Given the description of an element on the screen output the (x, y) to click on. 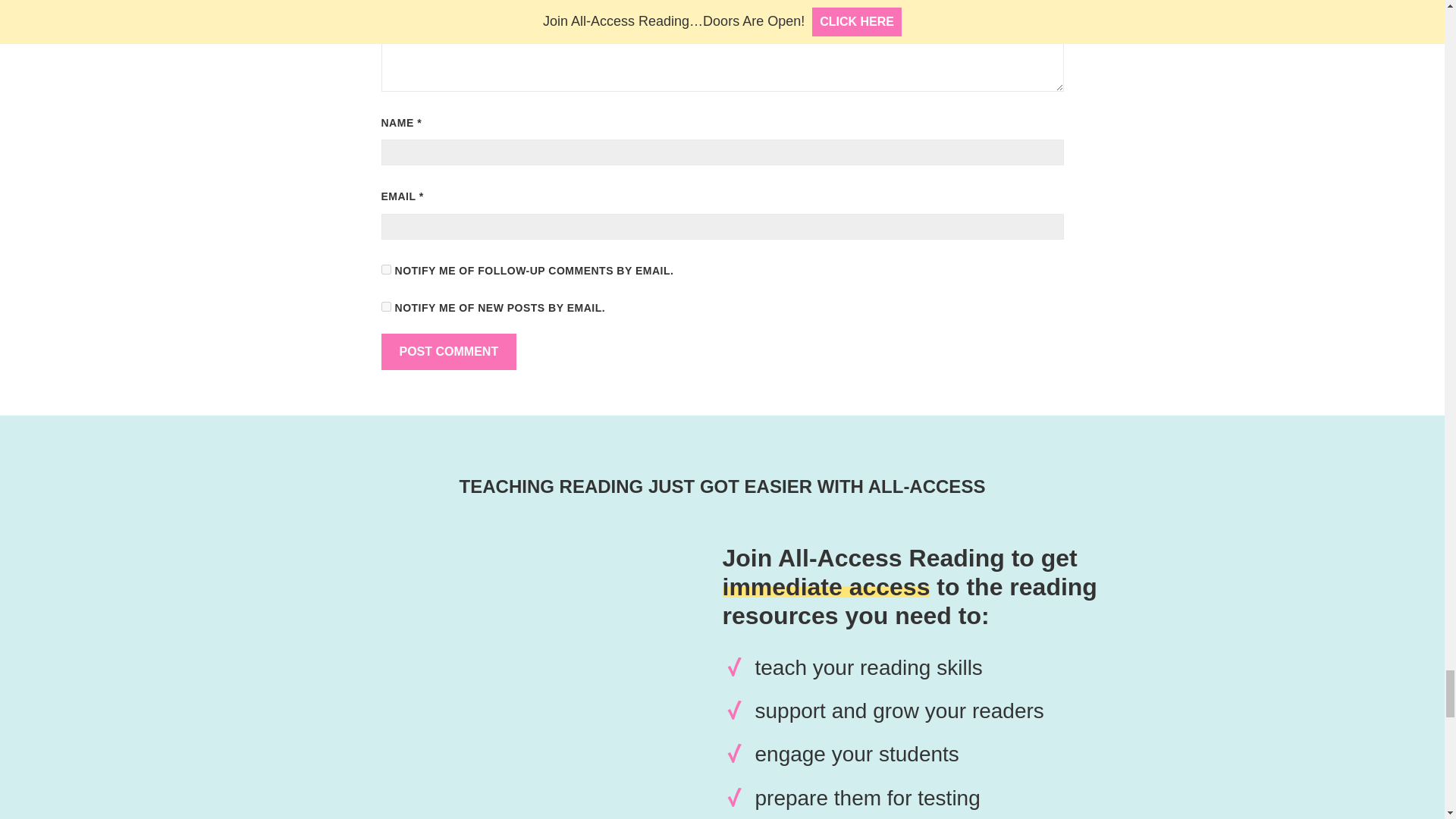
subscribe (385, 269)
Post Comment (448, 351)
subscribe (385, 307)
